Given the description of an element on the screen output the (x, y) to click on. 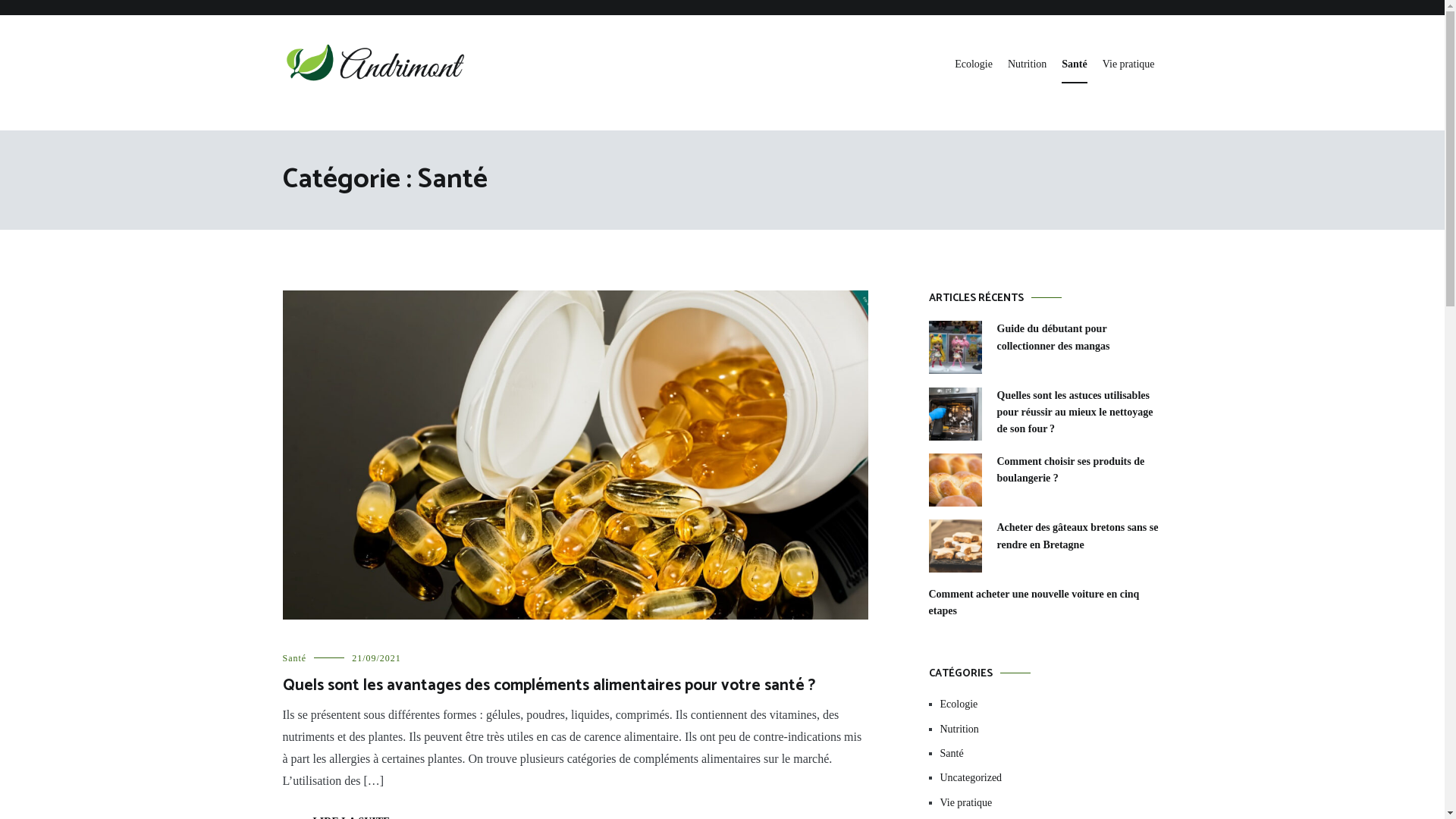
Ecologie Element type: text (1051, 704)
21/09/2021 Element type: text (376, 657)
Nutrition Element type: text (1026, 65)
Comment acheter une nouvelle voiture en cinq etapes Element type: text (1044, 603)
Nutrition Element type: text (1051, 729)
Vie pratique Element type: text (1051, 802)
Rechercher Element type: text (60, 16)
Uncategorized Element type: text (1051, 777)
Comment choisir ses produits de boulangerie ? Element type: text (1078, 470)
Ecologie Element type: text (973, 65)
Andrimont Element type: text (320, 113)
Vie pratique Element type: text (1128, 65)
